Given the description of an element on the screen output the (x, y) to click on. 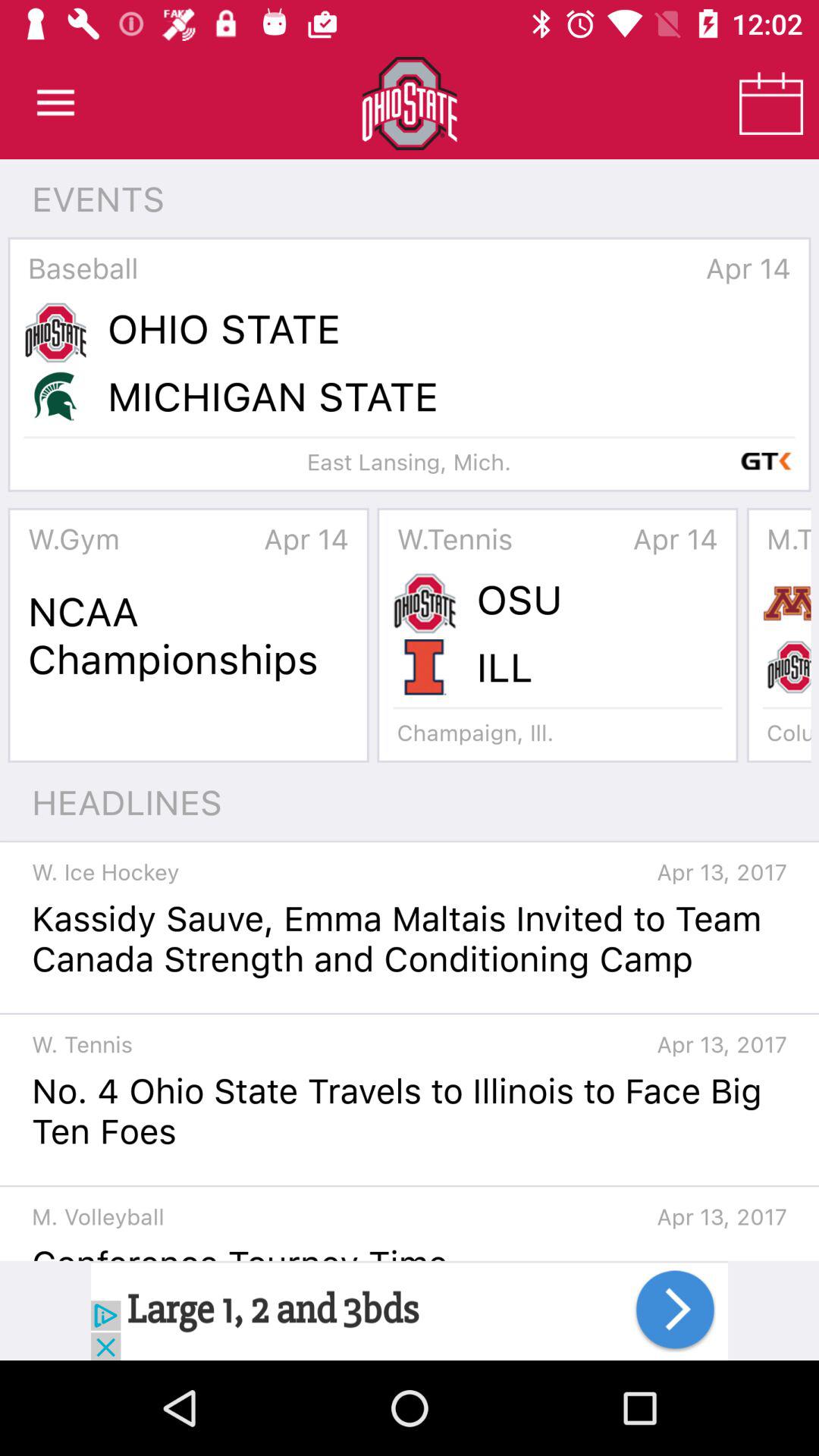
open main menu (55, 103)
